Given the description of an element on the screen output the (x, y) to click on. 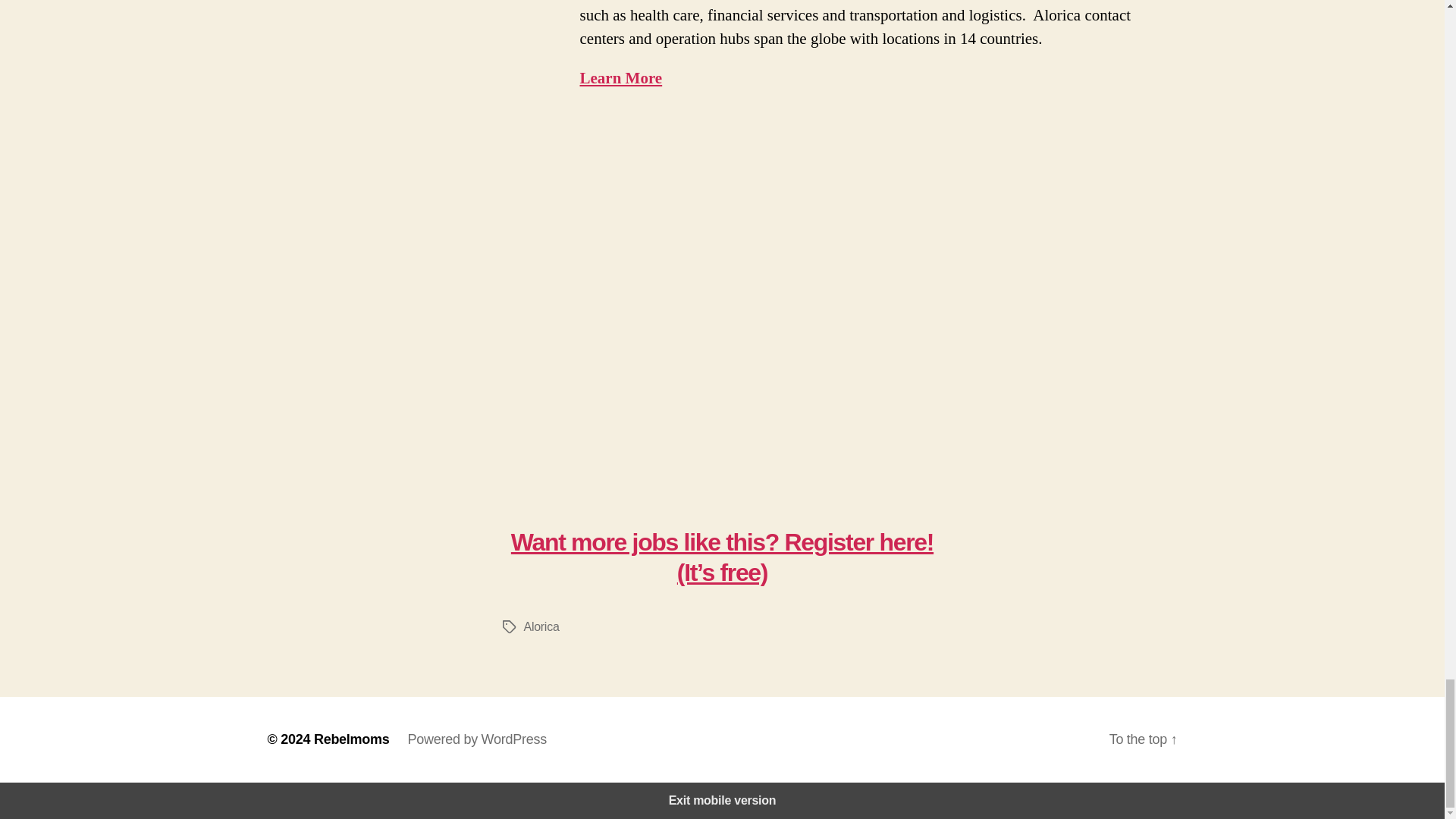
Moving Up (722, 304)
